Given the description of an element on the screen output the (x, y) to click on. 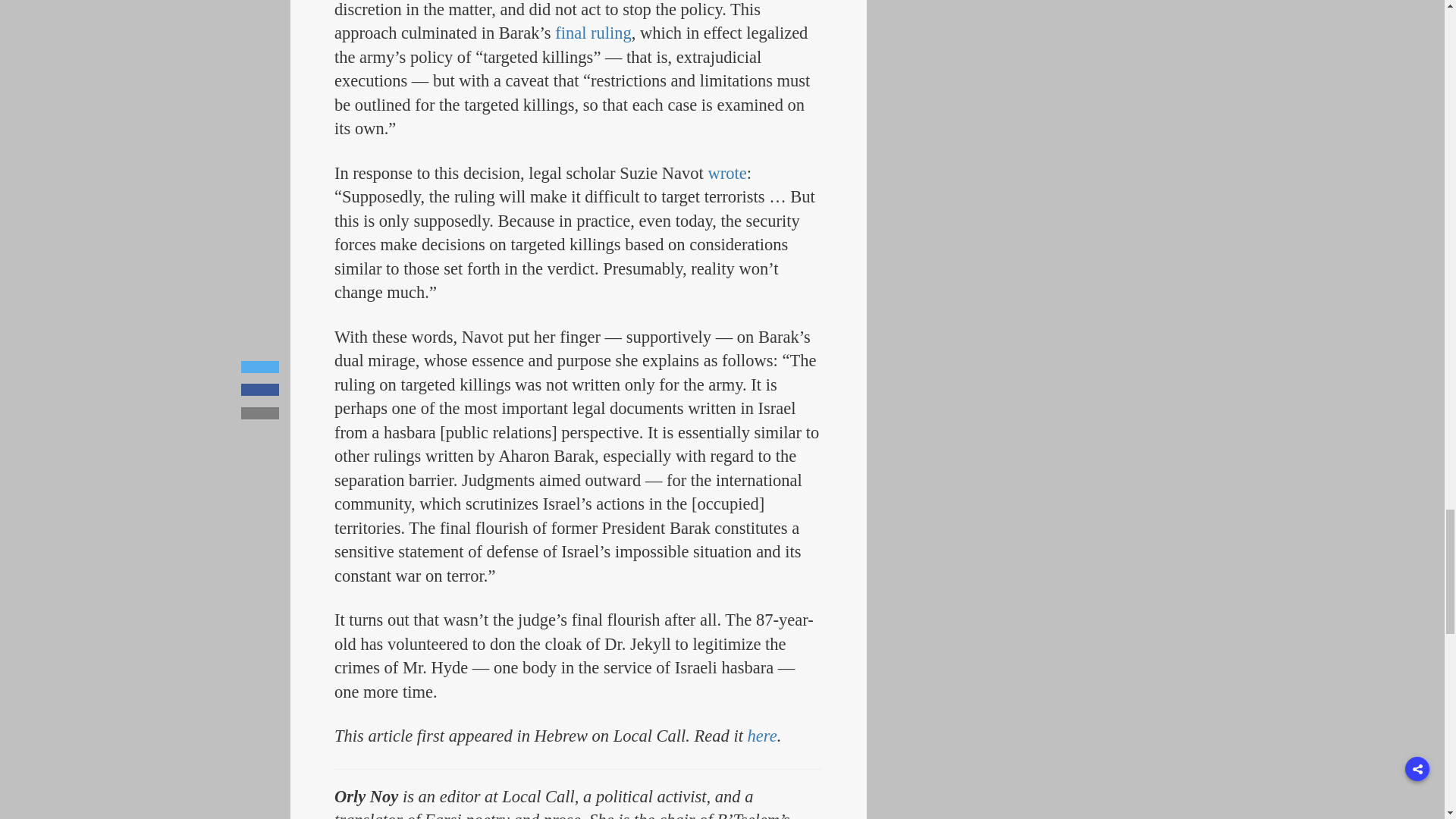
wrote (726, 172)
final ruling (592, 32)
here (762, 735)
